Given the description of an element on the screen output the (x, y) to click on. 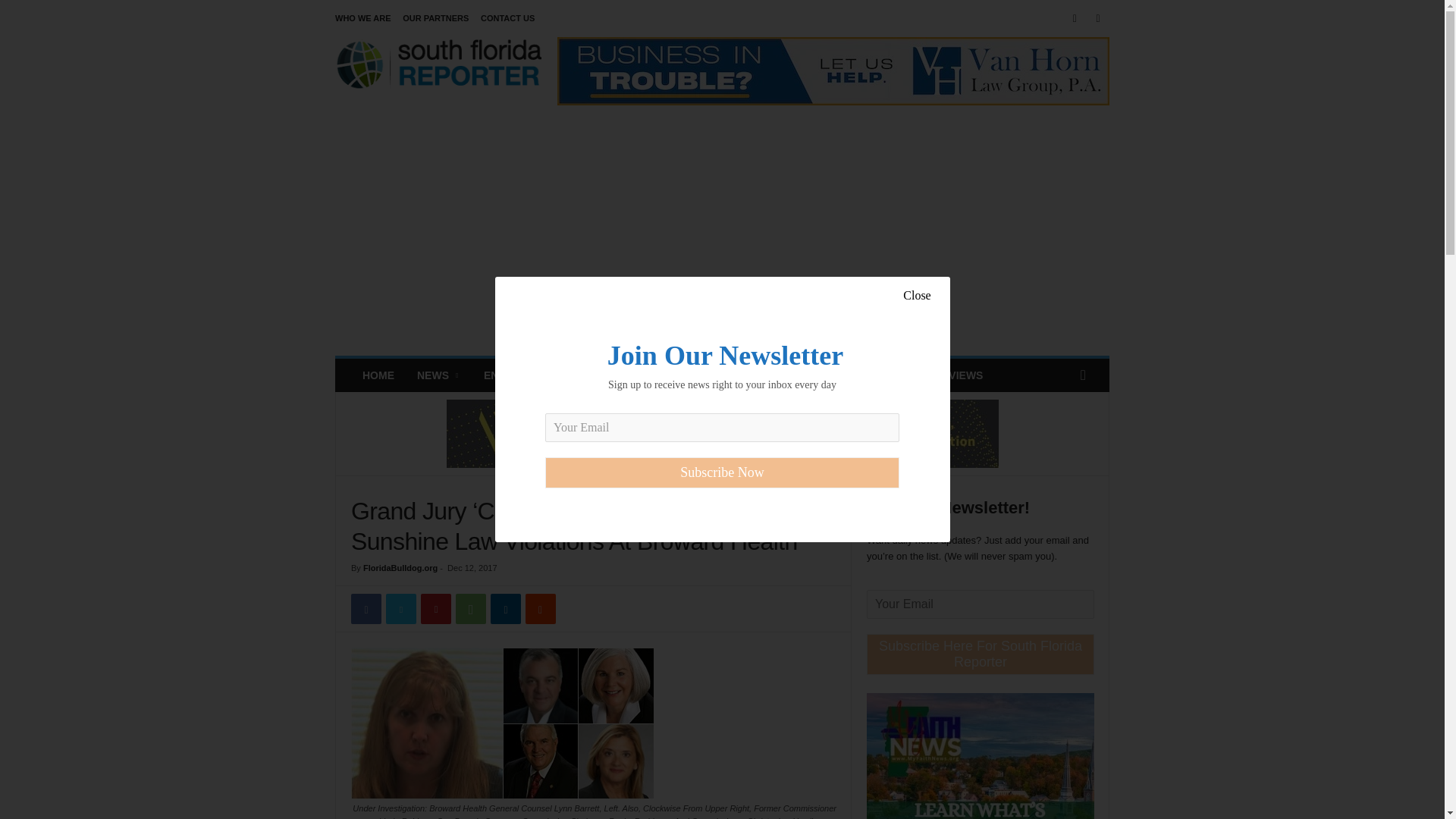
VIDEO (863, 375)
CONTACT US (507, 17)
HOME (378, 375)
South Florida Reporter (437, 70)
Pinterest (435, 608)
ENTERTAINMENT (528, 375)
ReddIt (540, 608)
OUR PARTNERS (435, 17)
WhatsApp (470, 608)
